Given the description of an element on the screen output the (x, y) to click on. 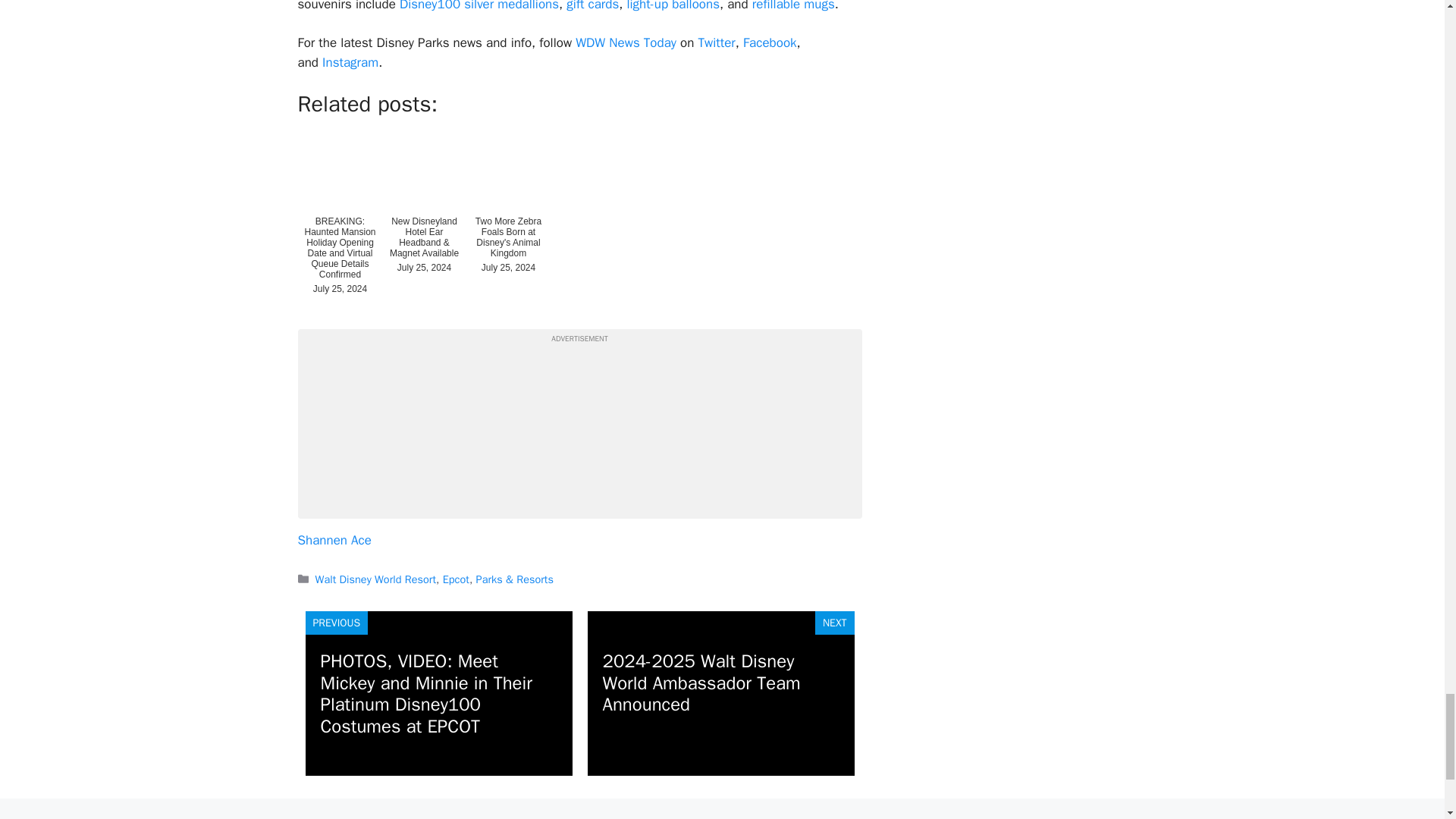
Shannen Ace (334, 539)
